Given the description of an element on the screen output the (x, y) to click on. 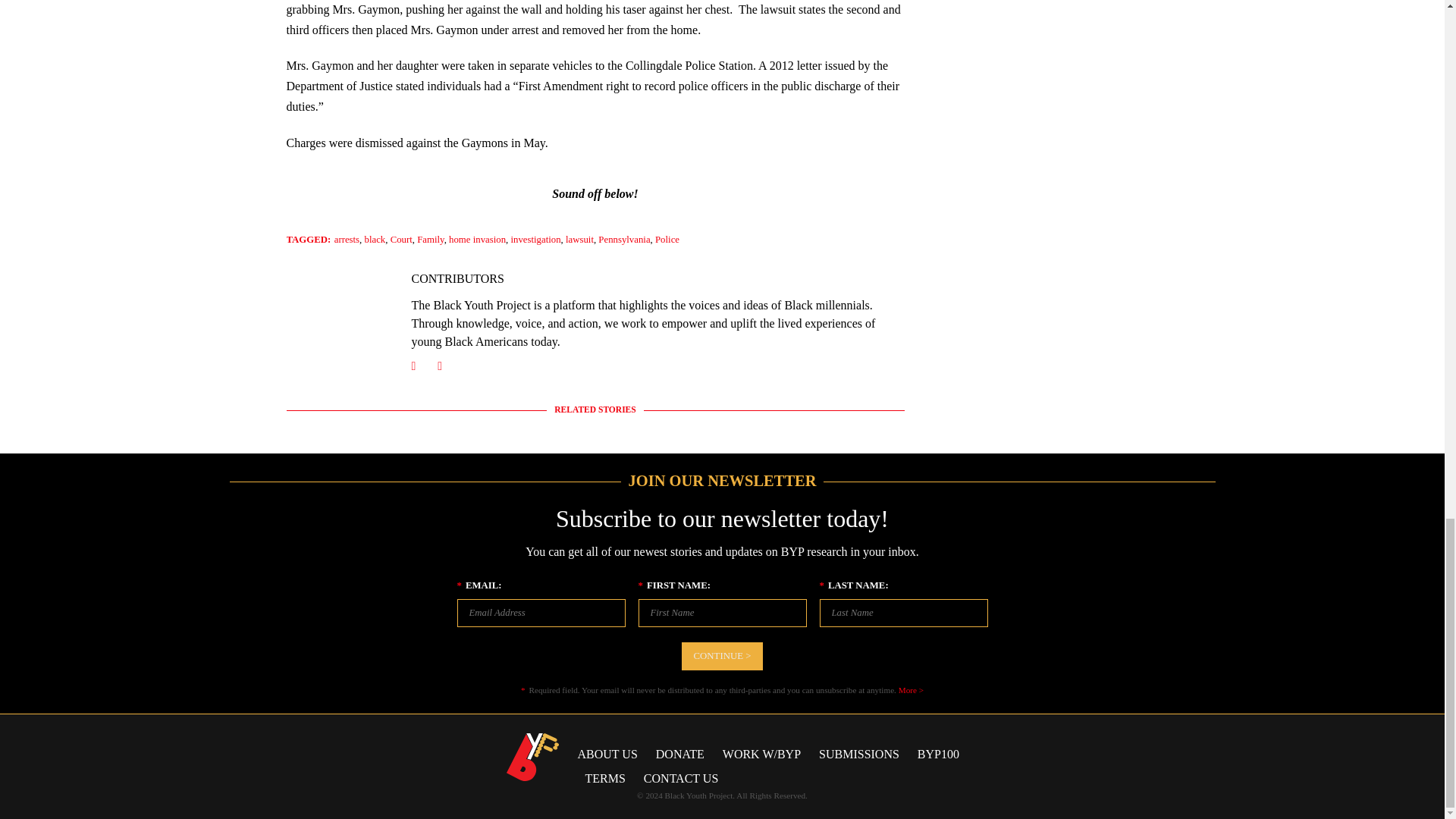
lawsuit (580, 239)
arrests (346, 239)
Court (401, 239)
black (375, 239)
Pennsylvania (623, 239)
CONTRIBUTORS (456, 278)
Family (430, 239)
Police (667, 239)
home invasion (476, 239)
investigation (535, 239)
